Given the description of an element on the screen output the (x, y) to click on. 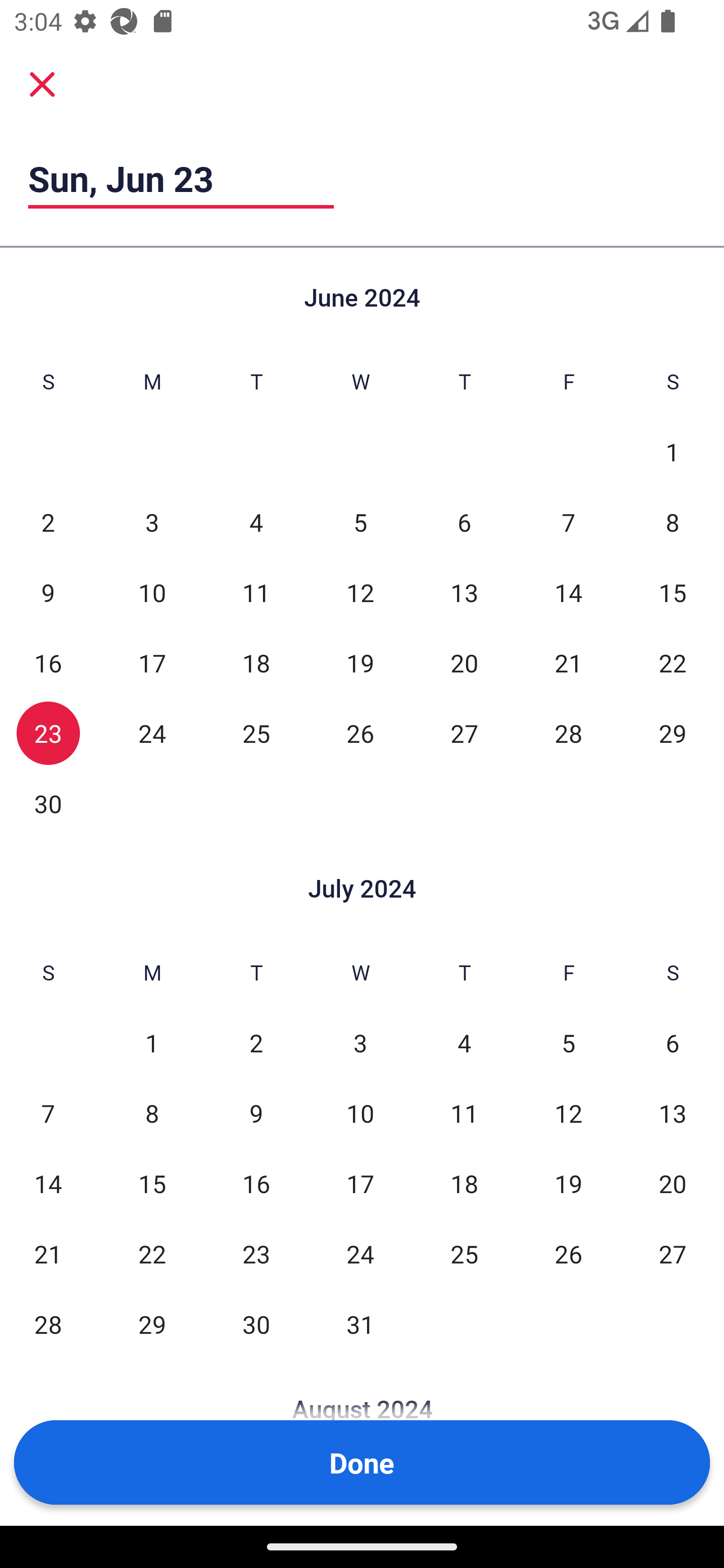
Cancel (41, 83)
Sun, Jun 23 (180, 178)
1 Sat, Jun 1, Not Selected (672, 452)
2 Sun, Jun 2, Not Selected (48, 521)
3 Mon, Jun 3, Not Selected (152, 521)
4 Tue, Jun 4, Not Selected (256, 521)
5 Wed, Jun 5, Not Selected (360, 521)
6 Thu, Jun 6, Not Selected (464, 521)
7 Fri, Jun 7, Not Selected (568, 521)
8 Sat, Jun 8, Not Selected (672, 521)
9 Sun, Jun 9, Not Selected (48, 591)
10 Mon, Jun 10, Not Selected (152, 591)
11 Tue, Jun 11, Not Selected (256, 591)
12 Wed, Jun 12, Not Selected (360, 591)
13 Thu, Jun 13, Not Selected (464, 591)
14 Fri, Jun 14, Not Selected (568, 591)
15 Sat, Jun 15, Not Selected (672, 591)
16 Sun, Jun 16, Not Selected (48, 662)
17 Mon, Jun 17, Not Selected (152, 662)
18 Tue, Jun 18, Not Selected (256, 662)
19 Wed, Jun 19, Not Selected (360, 662)
20 Thu, Jun 20, Not Selected (464, 662)
21 Fri, Jun 21, Not Selected (568, 662)
22 Sat, Jun 22, Not Selected (672, 662)
23 Sun, Jun 23, Selected (48, 732)
24 Mon, Jun 24, Not Selected (152, 732)
25 Tue, Jun 25, Not Selected (256, 732)
26 Wed, Jun 26, Not Selected (360, 732)
27 Thu, Jun 27, Not Selected (464, 732)
28 Fri, Jun 28, Not Selected (568, 732)
29 Sat, Jun 29, Not Selected (672, 732)
30 Sun, Jun 30, Not Selected (48, 803)
1 Mon, Jul 1, Not Selected (152, 1043)
2 Tue, Jul 2, Not Selected (256, 1043)
3 Wed, Jul 3, Not Selected (360, 1043)
4 Thu, Jul 4, Not Selected (464, 1043)
5 Fri, Jul 5, Not Selected (568, 1043)
6 Sat, Jul 6, Not Selected (672, 1043)
7 Sun, Jul 7, Not Selected (48, 1112)
8 Mon, Jul 8, Not Selected (152, 1112)
9 Tue, Jul 9, Not Selected (256, 1112)
10 Wed, Jul 10, Not Selected (360, 1112)
11 Thu, Jul 11, Not Selected (464, 1112)
12 Fri, Jul 12, Not Selected (568, 1112)
13 Sat, Jul 13, Not Selected (672, 1112)
14 Sun, Jul 14, Not Selected (48, 1182)
15 Mon, Jul 15, Not Selected (152, 1182)
16 Tue, Jul 16, Not Selected (256, 1182)
17 Wed, Jul 17, Not Selected (360, 1182)
18 Thu, Jul 18, Not Selected (464, 1182)
19 Fri, Jul 19, Not Selected (568, 1182)
20 Sat, Jul 20, Not Selected (672, 1182)
21 Sun, Jul 21, Not Selected (48, 1253)
22 Mon, Jul 22, Not Selected (152, 1253)
23 Tue, Jul 23, Not Selected (256, 1253)
24 Wed, Jul 24, Not Selected (360, 1253)
25 Thu, Jul 25, Not Selected (464, 1253)
26 Fri, Jul 26, Not Selected (568, 1253)
27 Sat, Jul 27, Not Selected (672, 1253)
28 Sun, Jul 28, Not Selected (48, 1323)
29 Mon, Jul 29, Not Selected (152, 1323)
30 Tue, Jul 30, Not Selected (256, 1323)
31 Wed, Jul 31, Not Selected (360, 1323)
Done Button Done (361, 1462)
